Given the description of an element on the screen output the (x, y) to click on. 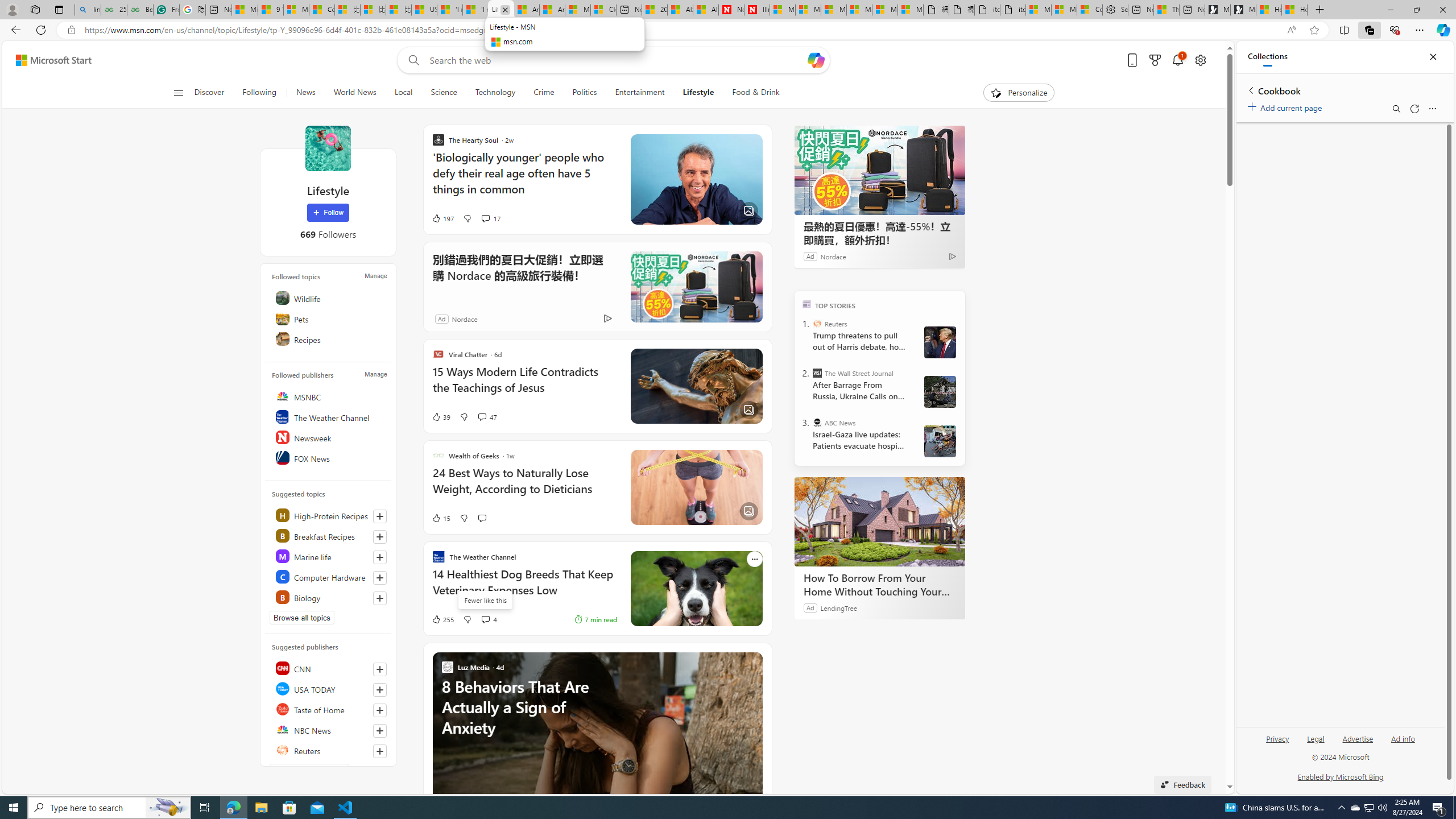
Recipes (328, 339)
Privacy (1277, 742)
Politics (584, 92)
LendingTree (838, 607)
NBC News (328, 729)
ABC News (816, 422)
Following (259, 92)
